Given the description of an element on the screen output the (x, y) to click on. 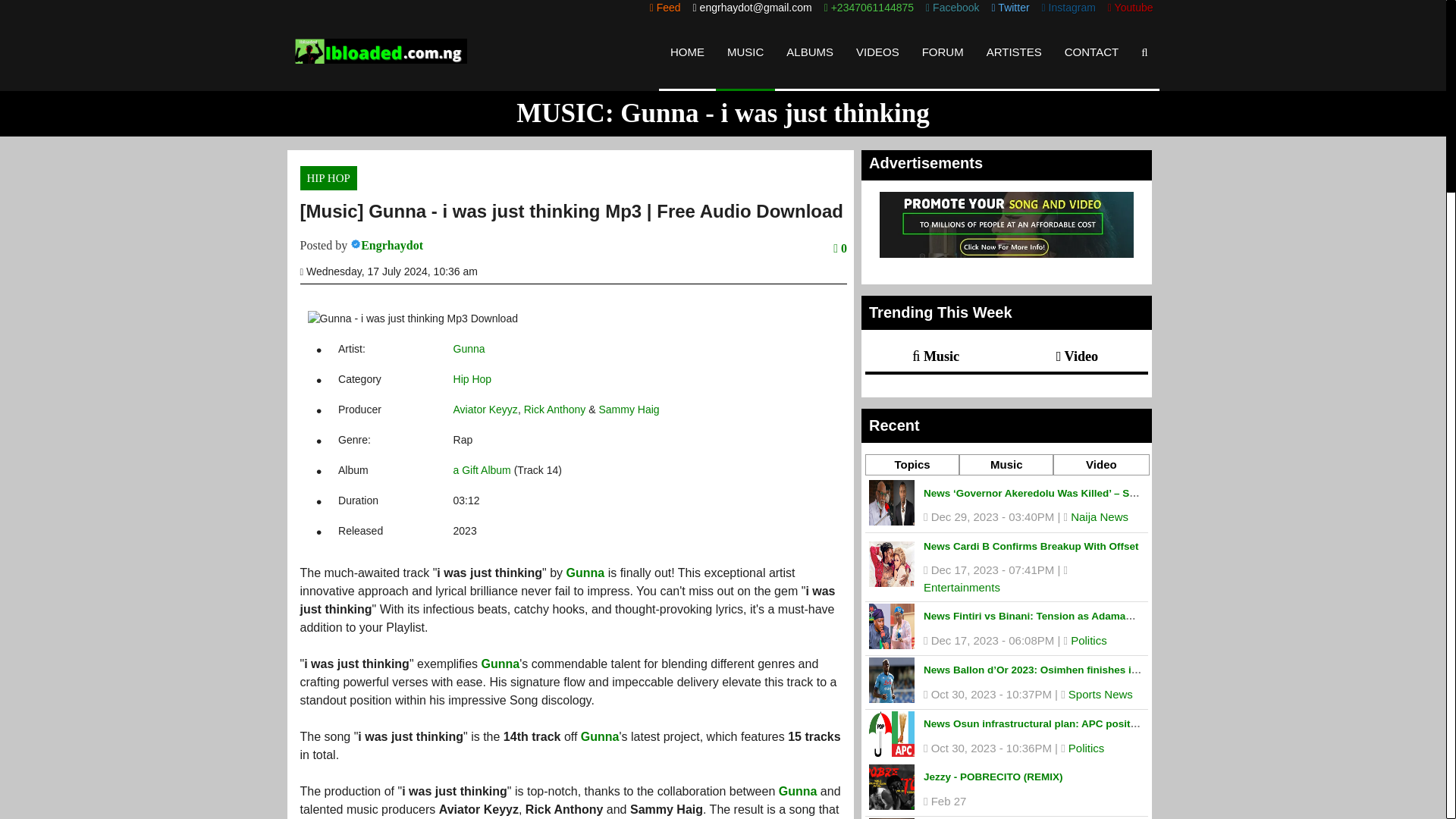
Gunna (585, 572)
Facebook (952, 7)
Rick Anthony (555, 409)
Twitter (1010, 7)
ALBUMS (809, 51)
HOME (687, 51)
Aviator Keyyz (485, 409)
Hip Hop (472, 378)
Gunna (499, 663)
Cardi B Confirms Breakup With Offset (1030, 546)
Feed (665, 7)
Entertainments (961, 586)
FORUM (943, 51)
MUSIC (745, 51)
